Given the description of an element on the screen output the (x, y) to click on. 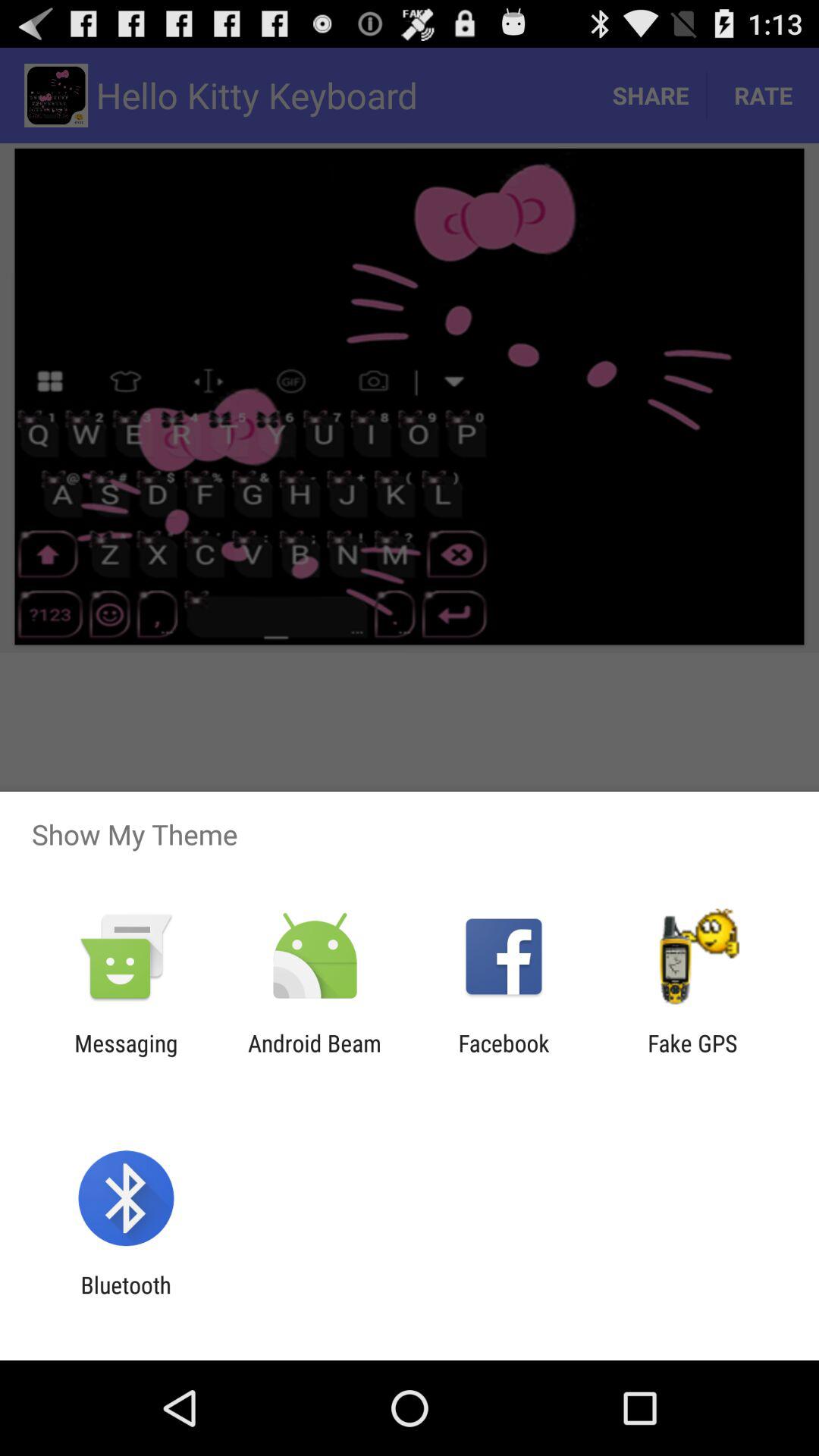
turn on the icon to the left of the facebook app (314, 1056)
